Given the description of an element on the screen output the (x, y) to click on. 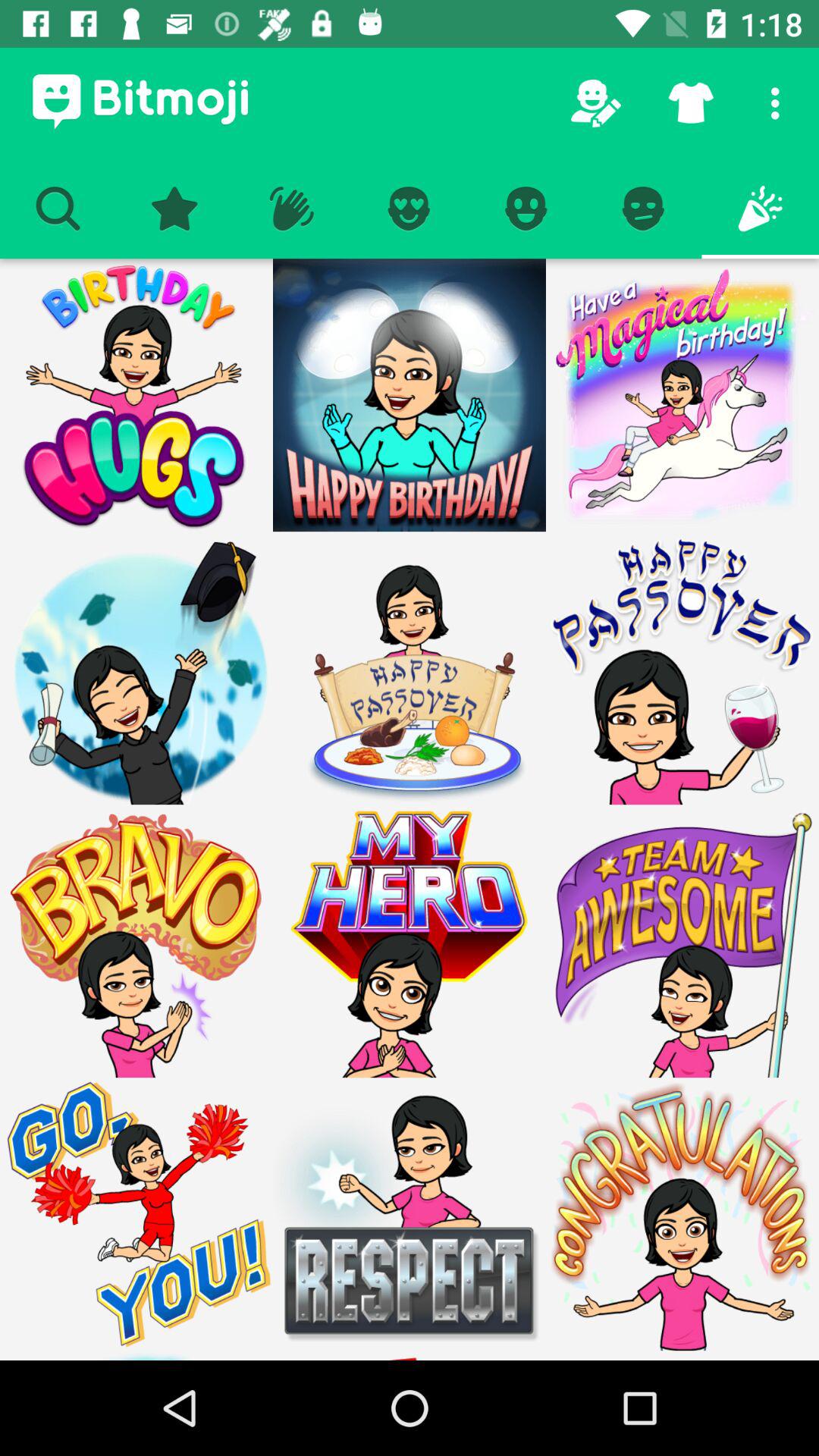
select sticker (682, 940)
